Given the description of an element on the screen output the (x, y) to click on. 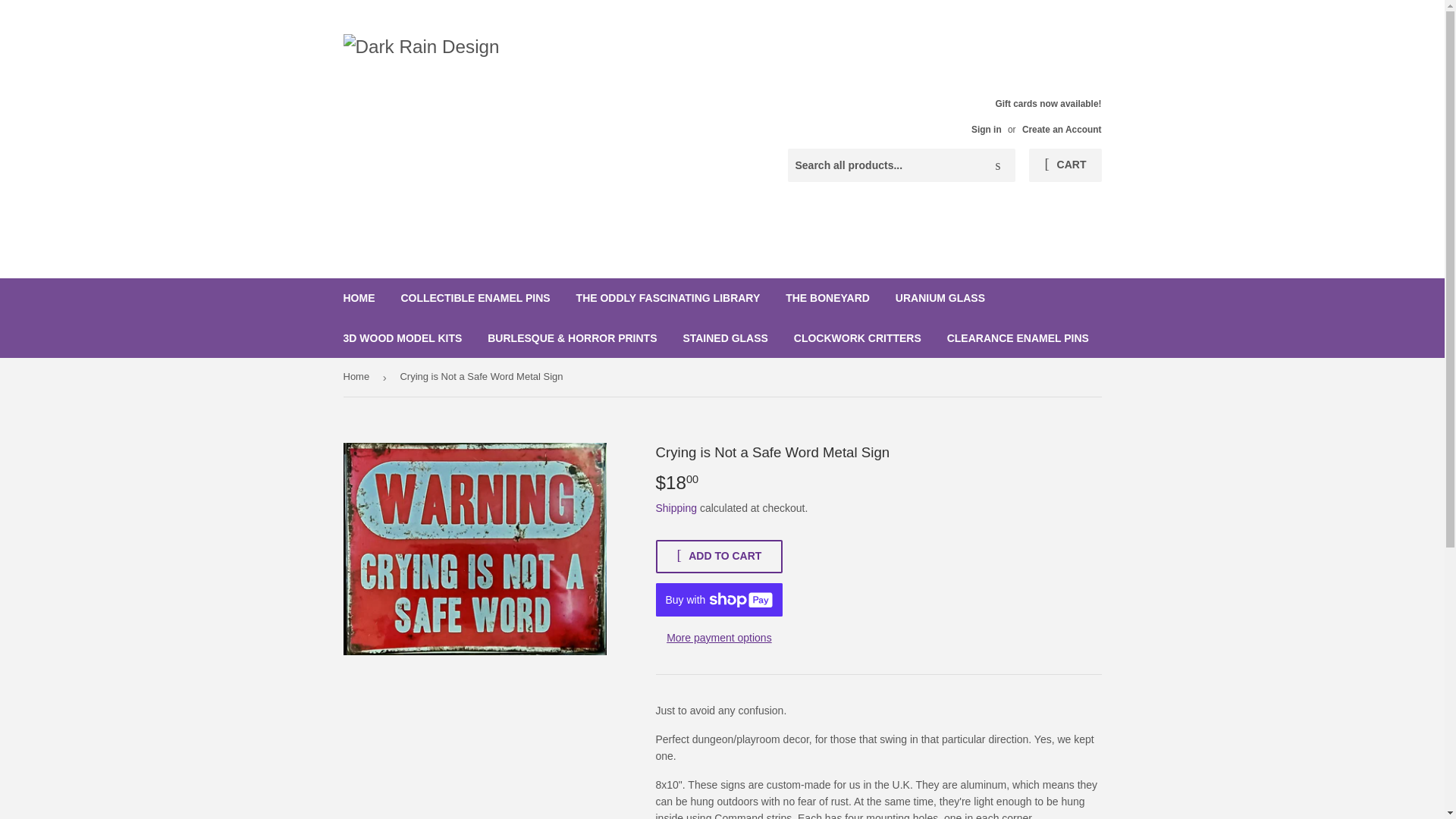
HOME (359, 297)
CART (1064, 164)
More payment options (719, 637)
Sign in (986, 129)
CLOCKWORK CRITTERS (858, 337)
THE ODDLY FASCINATING LIBRARY (667, 297)
CLEARANCE ENAMEL PINS (1018, 337)
Gift cards now available! (1029, 116)
3D WOOD MODEL KITS (402, 337)
Shipping (676, 508)
